Given the description of an element on the screen output the (x, y) to click on. 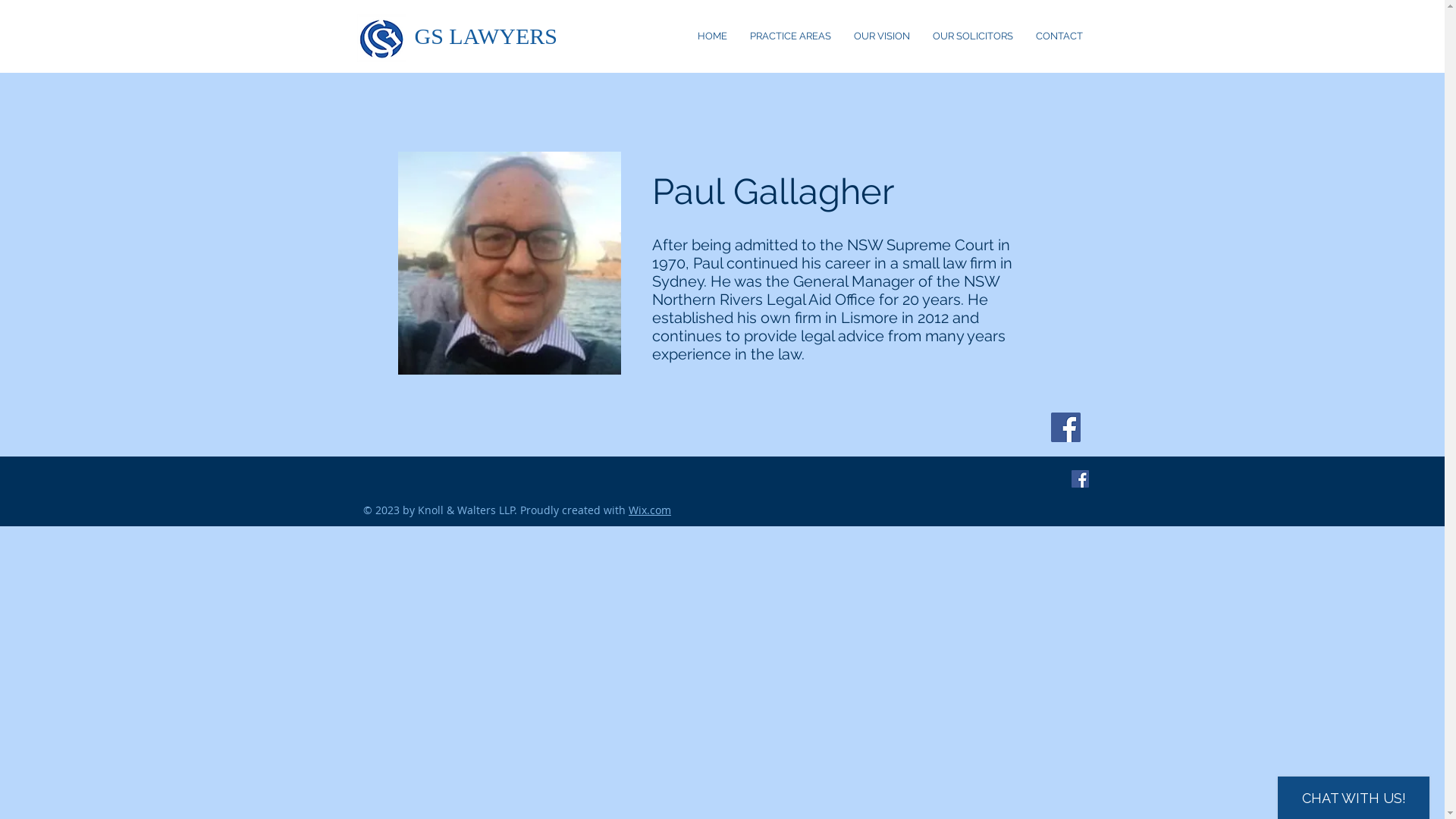
Unknown-1.jpeg Element type: hover (508, 262)
CONTACT Element type: text (1058, 36)
Wix.com Element type: text (649, 509)
HOME Element type: text (711, 36)
OUR VISION Element type: text (880, 36)
GS LAWYERS Element type: text (485, 35)
PRACTICE AREAS Element type: text (790, 36)
OUR SOLICITORS Element type: text (971, 36)
